Given the description of an element on the screen output the (x, y) to click on. 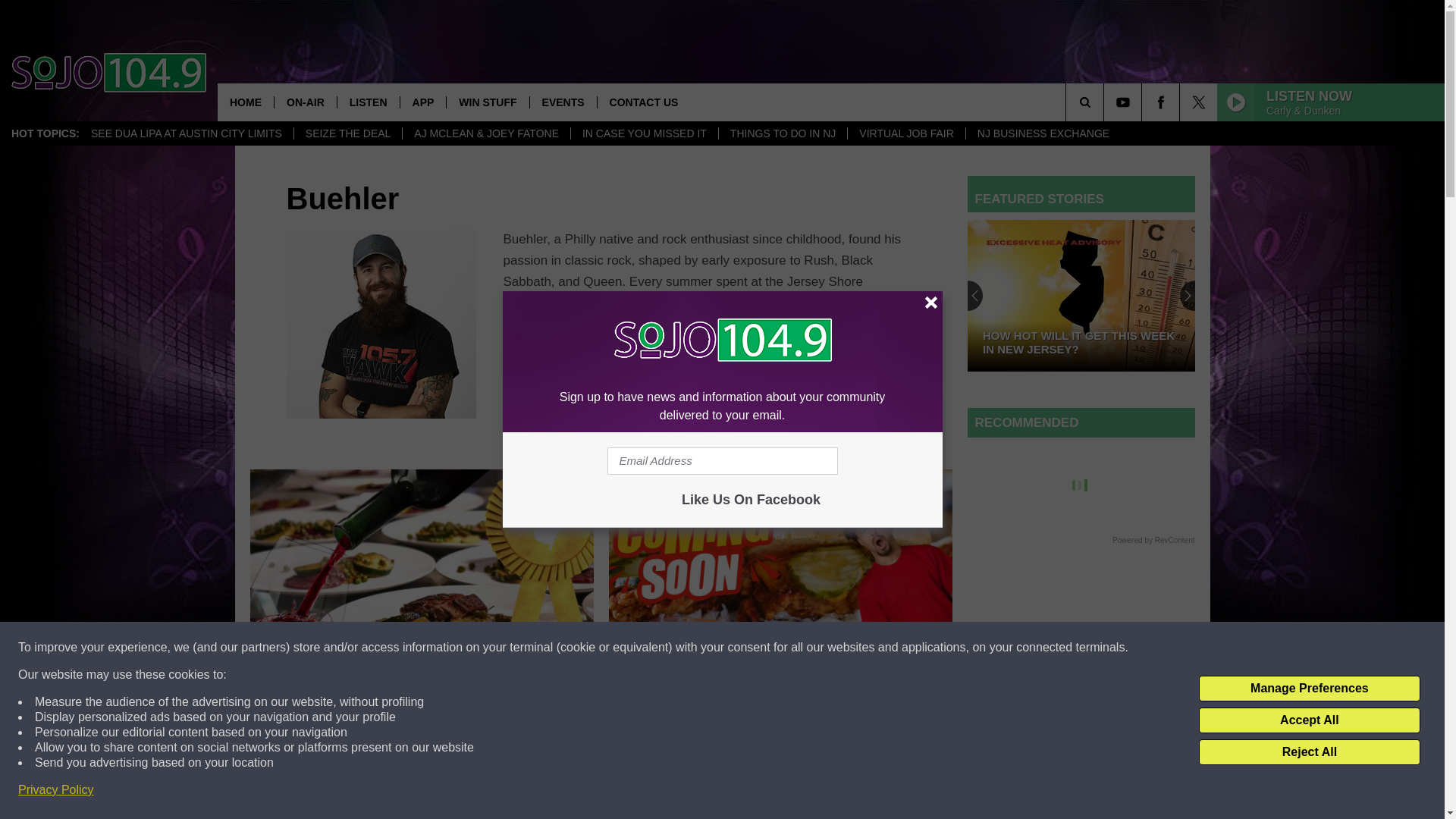
VIRTUAL JOB FAIR (905, 133)
SEARCH (1106, 102)
LISTEN (367, 102)
ON-AIR (304, 102)
NJ BUSINESS EXCHANGE (1043, 133)
SEIZE THE DEAL (348, 133)
APP (422, 102)
HOME (244, 102)
Email Address (722, 461)
IN CASE YOU MISSED IT (643, 133)
THINGS TO DO IN NJ (782, 133)
SEE DUA LIPA AT AUSTIN CITY LIMITS (187, 133)
Accept All (1309, 720)
WIN STUFF (486, 102)
Reject All (1309, 751)
